Given the description of an element on the screen output the (x, y) to click on. 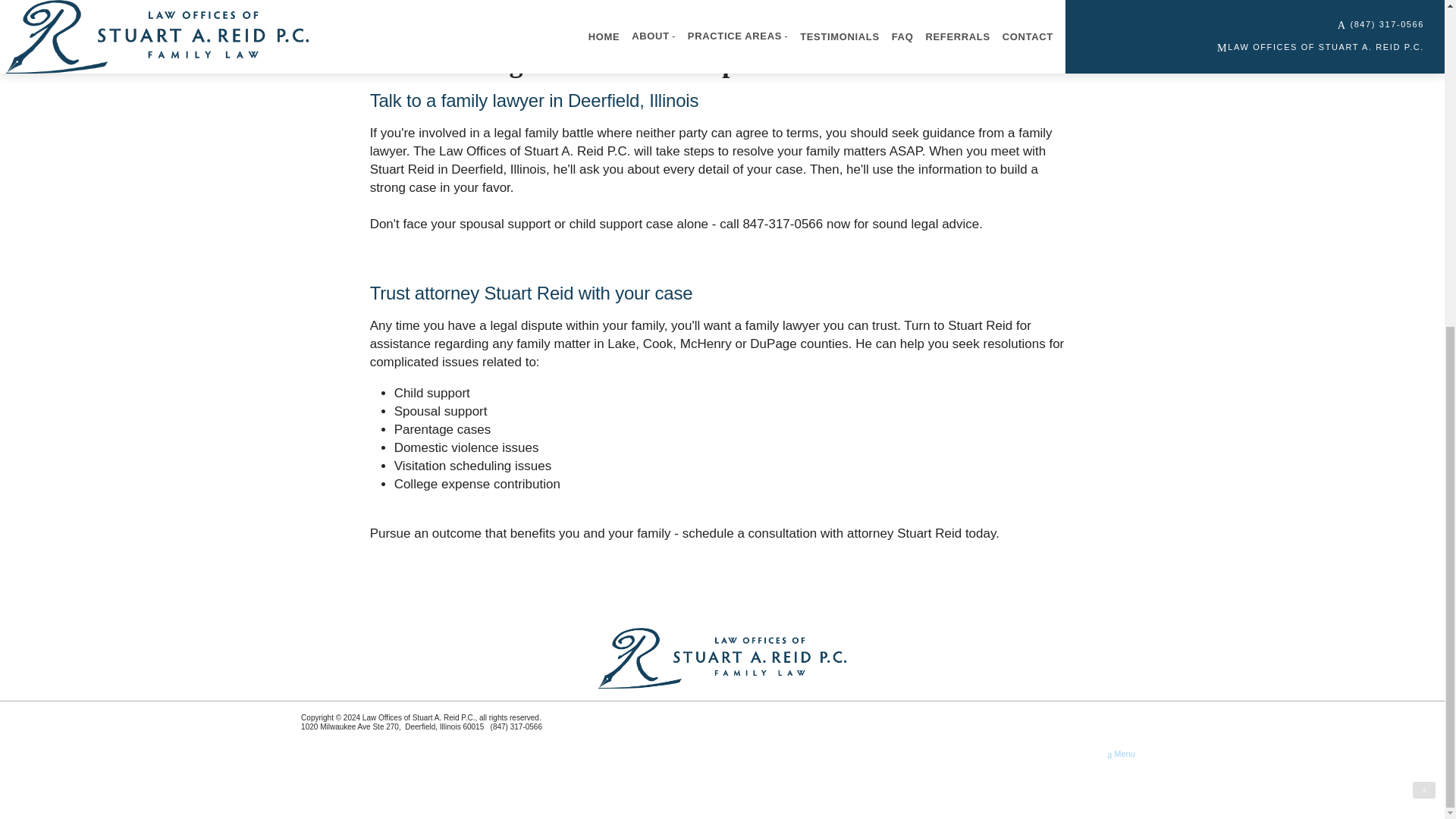
Menu (1120, 753)
Open Menu (1120, 753)
Law Office of Stuart A. Reid P.C. (722, 658)
